Given the description of an element on the screen output the (x, y) to click on. 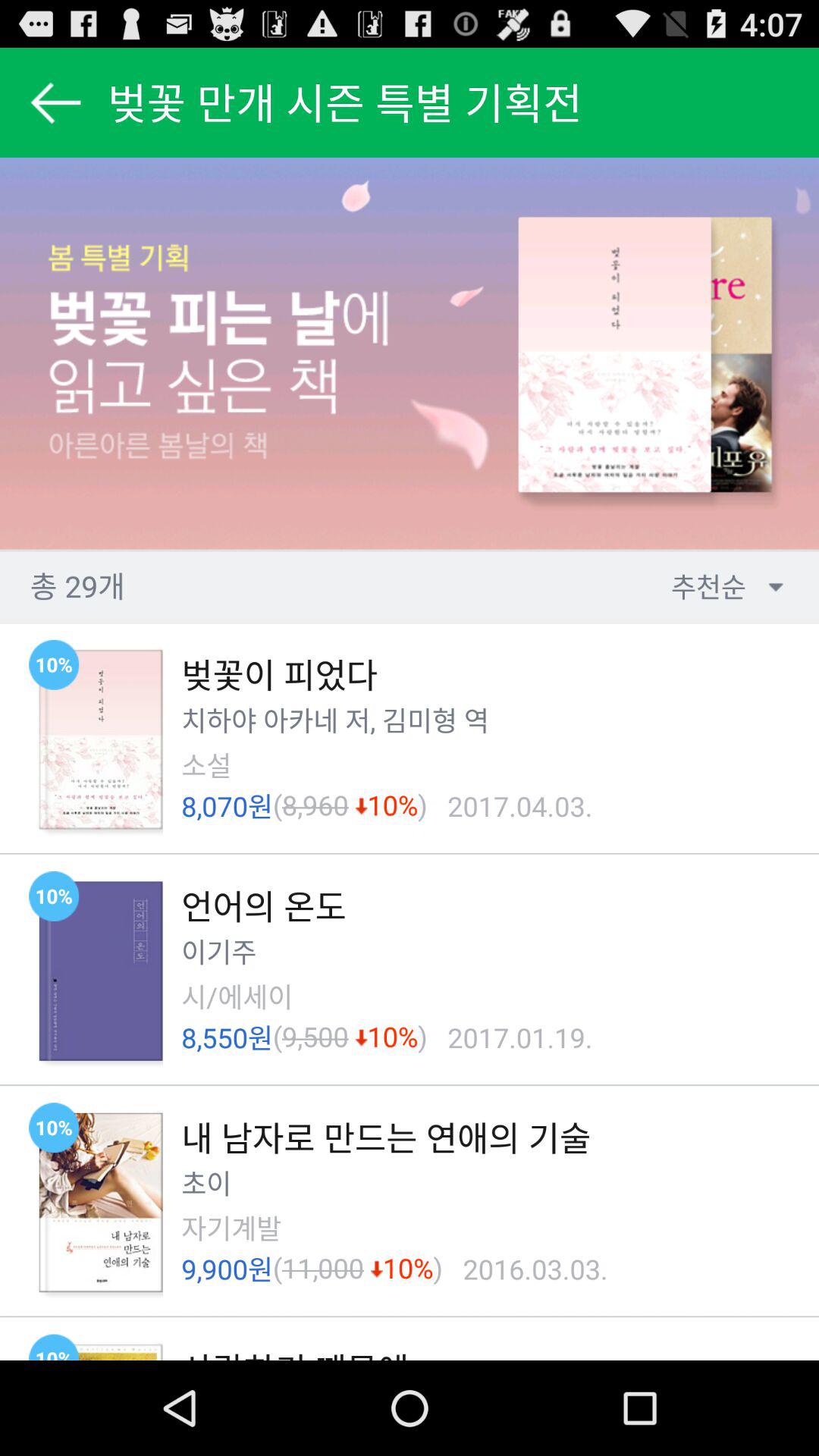
turn off the , (376, 721)
